Given the description of an element on the screen output the (x, y) to click on. 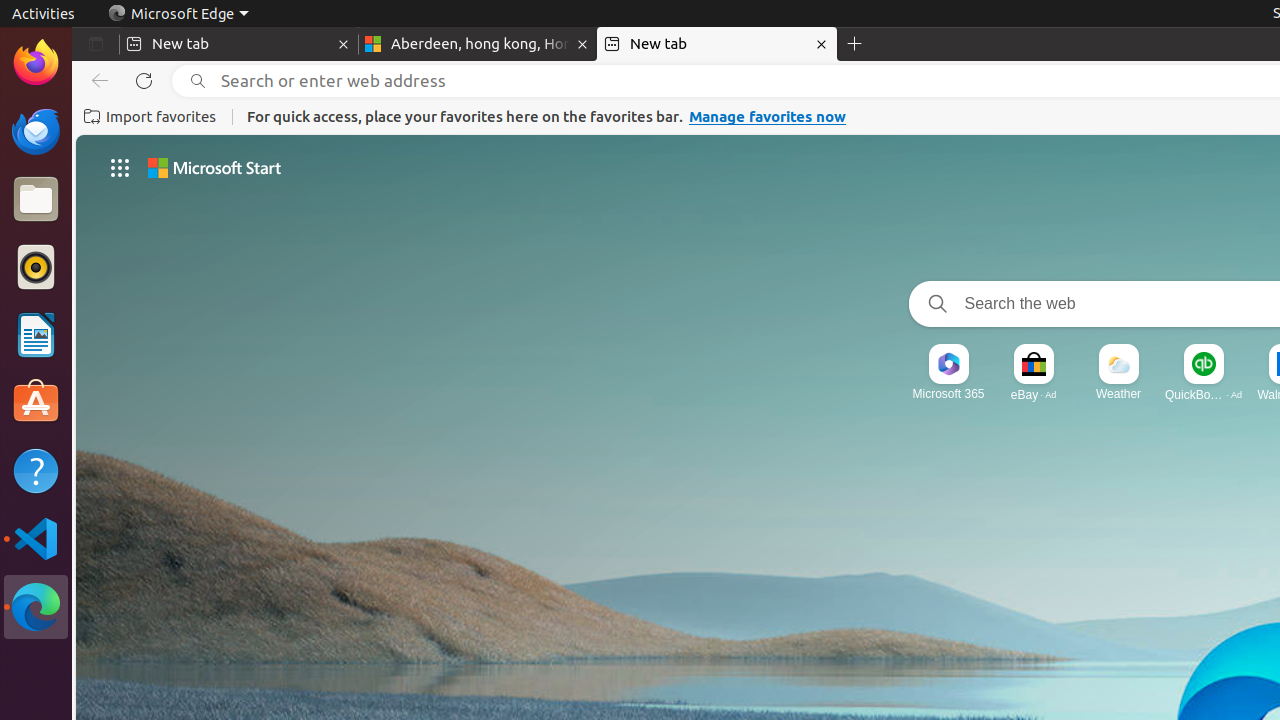
Weather Element type: link (1118, 393)
Manage favorites now Element type: link (767, 117)
